Given the description of an element on the screen output the (x, y) to click on. 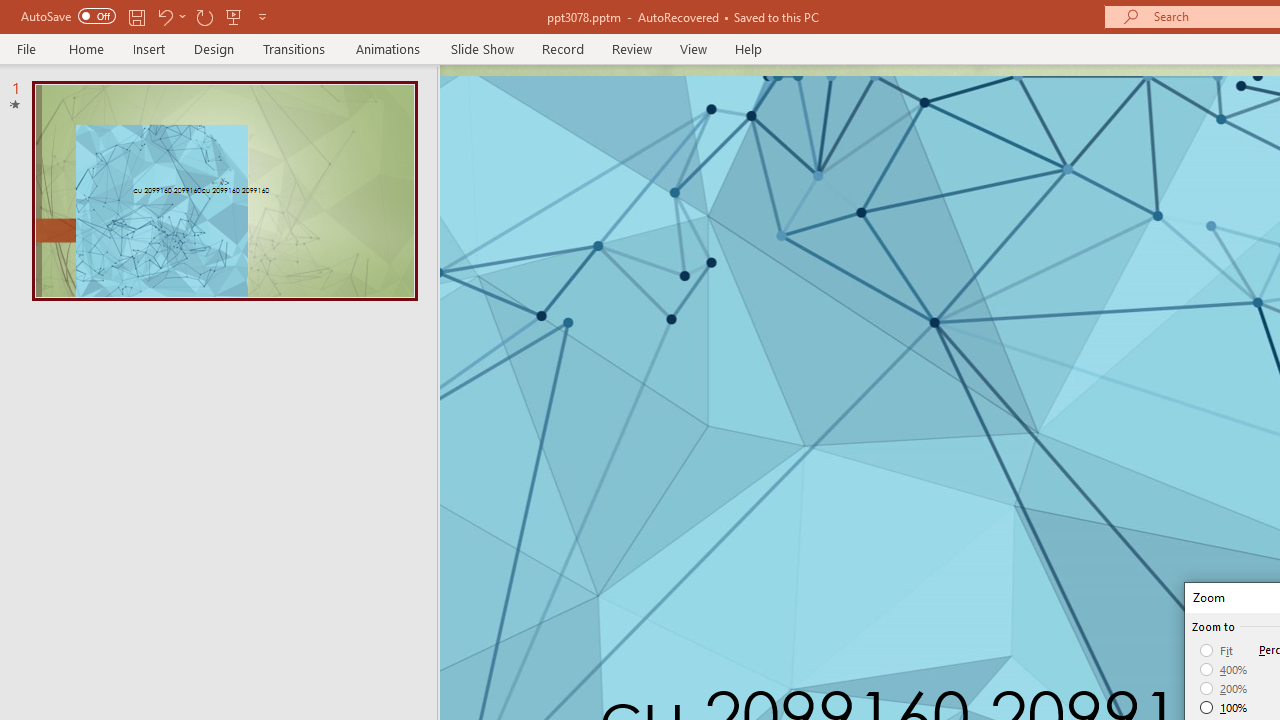
Fit (1217, 650)
400% (1224, 669)
